Given the description of an element on the screen output the (x, y) to click on. 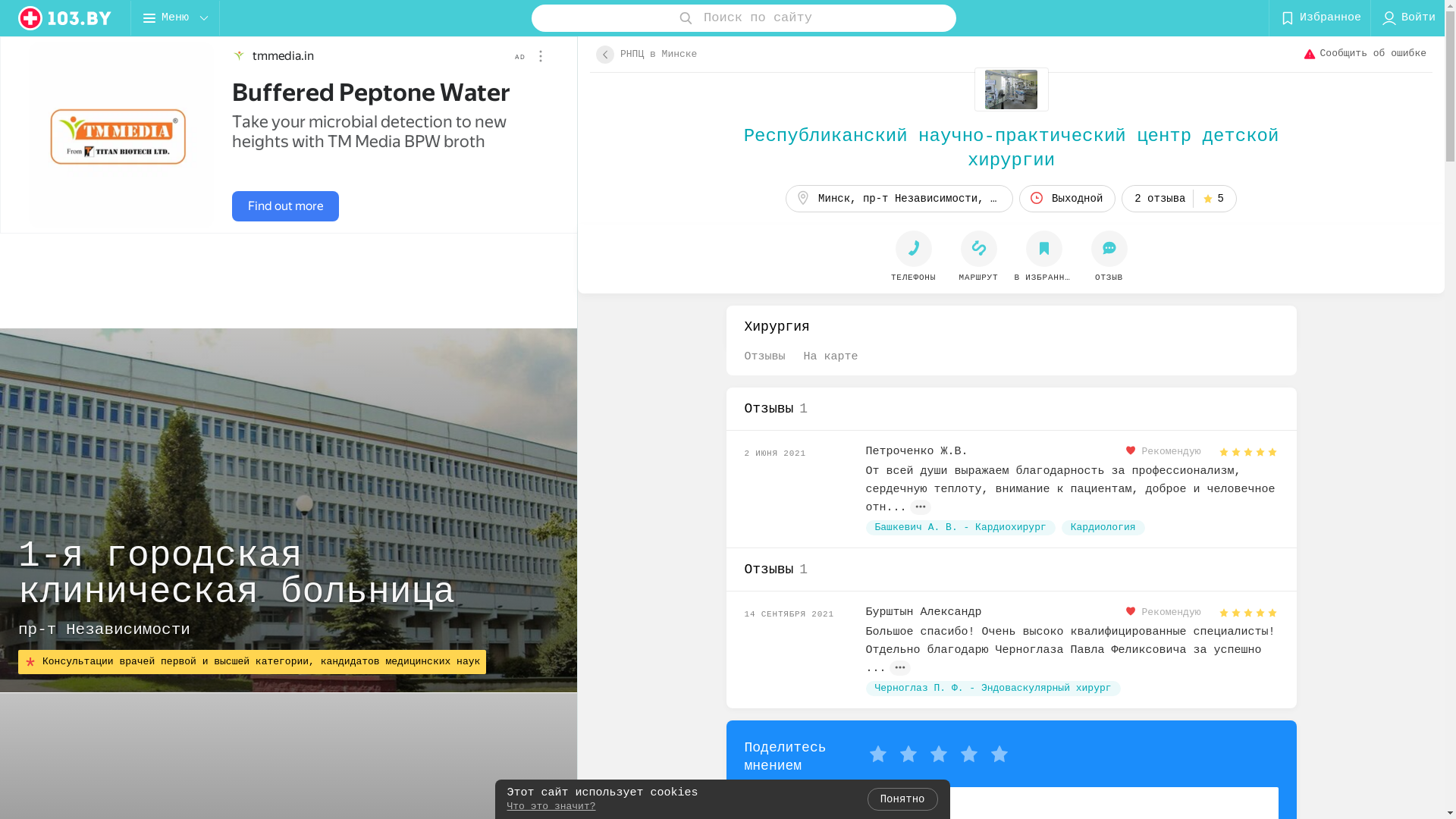
logo Element type: hover (65, 18)
